Given the description of an element on the screen output the (x, y) to click on. 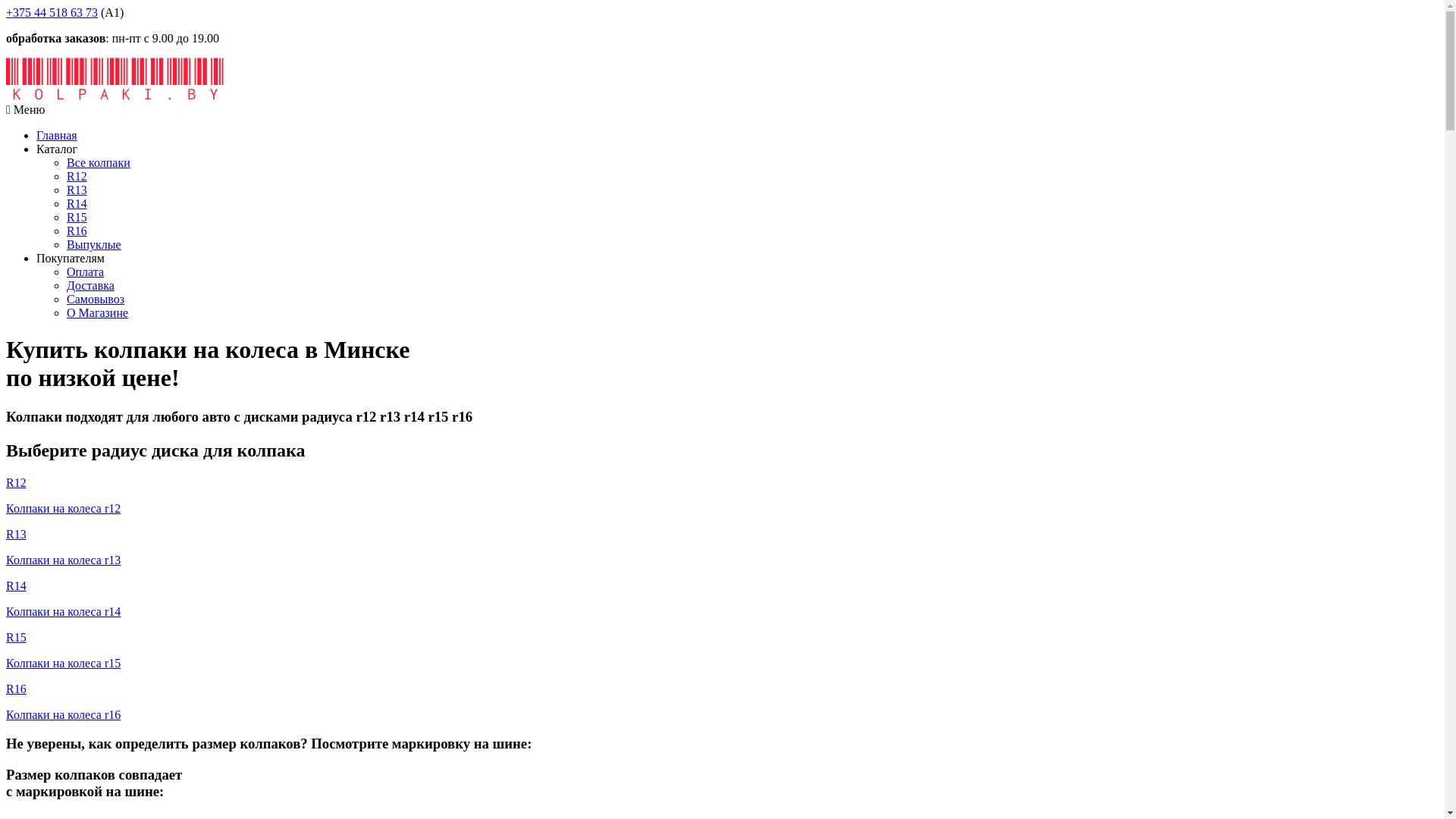
+375 44 518 63 73 Element type: text (51, 12)
R12 Element type: text (76, 175)
R16 Element type: text (76, 230)
R15 Element type: text (76, 216)
R13 Element type: text (76, 189)
R14 Element type: text (76, 203)
